Given the description of an element on the screen output the (x, y) to click on. 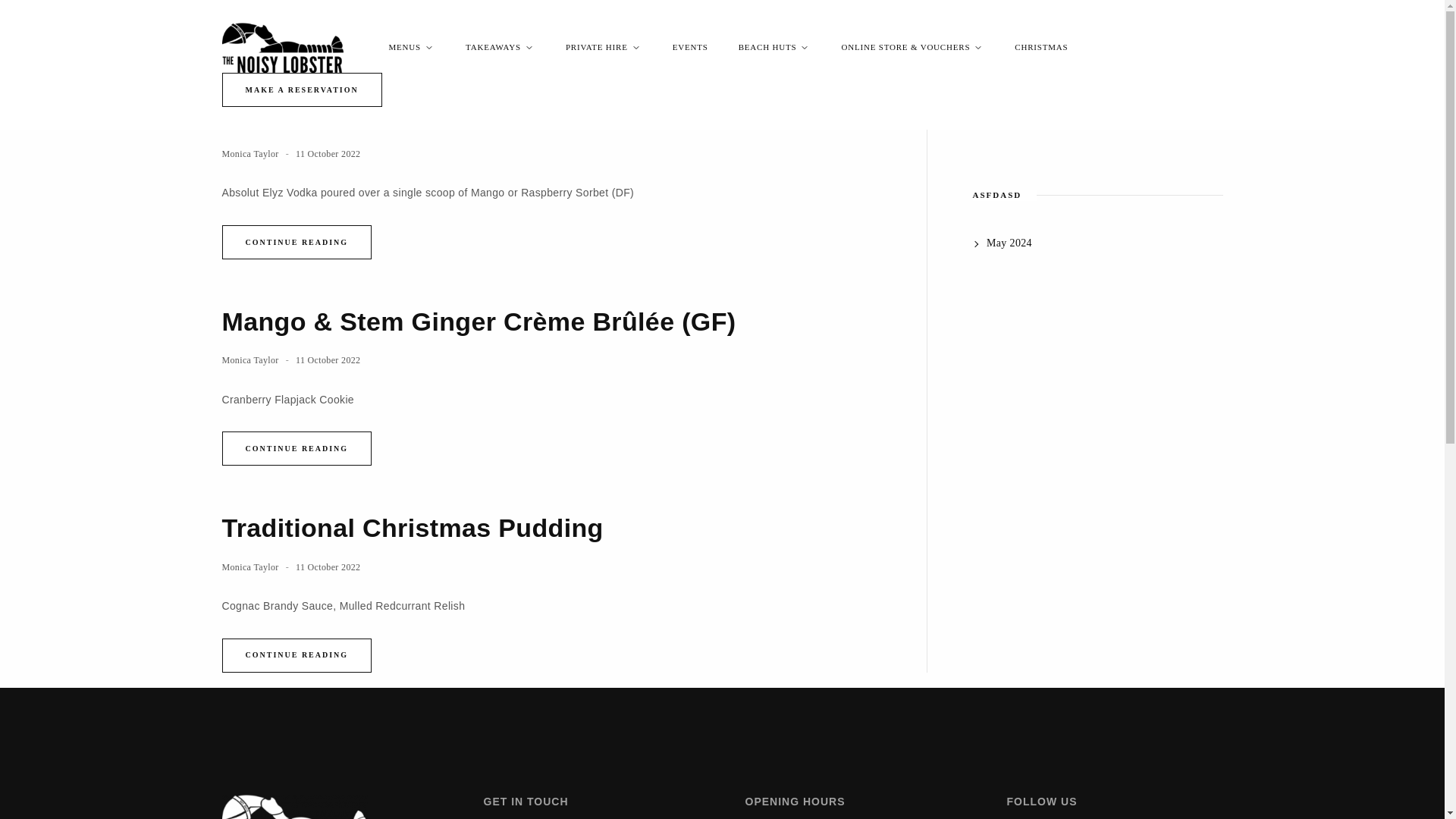
TAKEAWAYS (499, 47)
PRIVATE HIRE (604, 47)
CHRISTMAS (1040, 47)
MENUS (410, 47)
EVENTS (690, 47)
MAKE A RESERVATION (301, 89)
BEACH HUTS (775, 47)
